Given the description of an element on the screen output the (x, y) to click on. 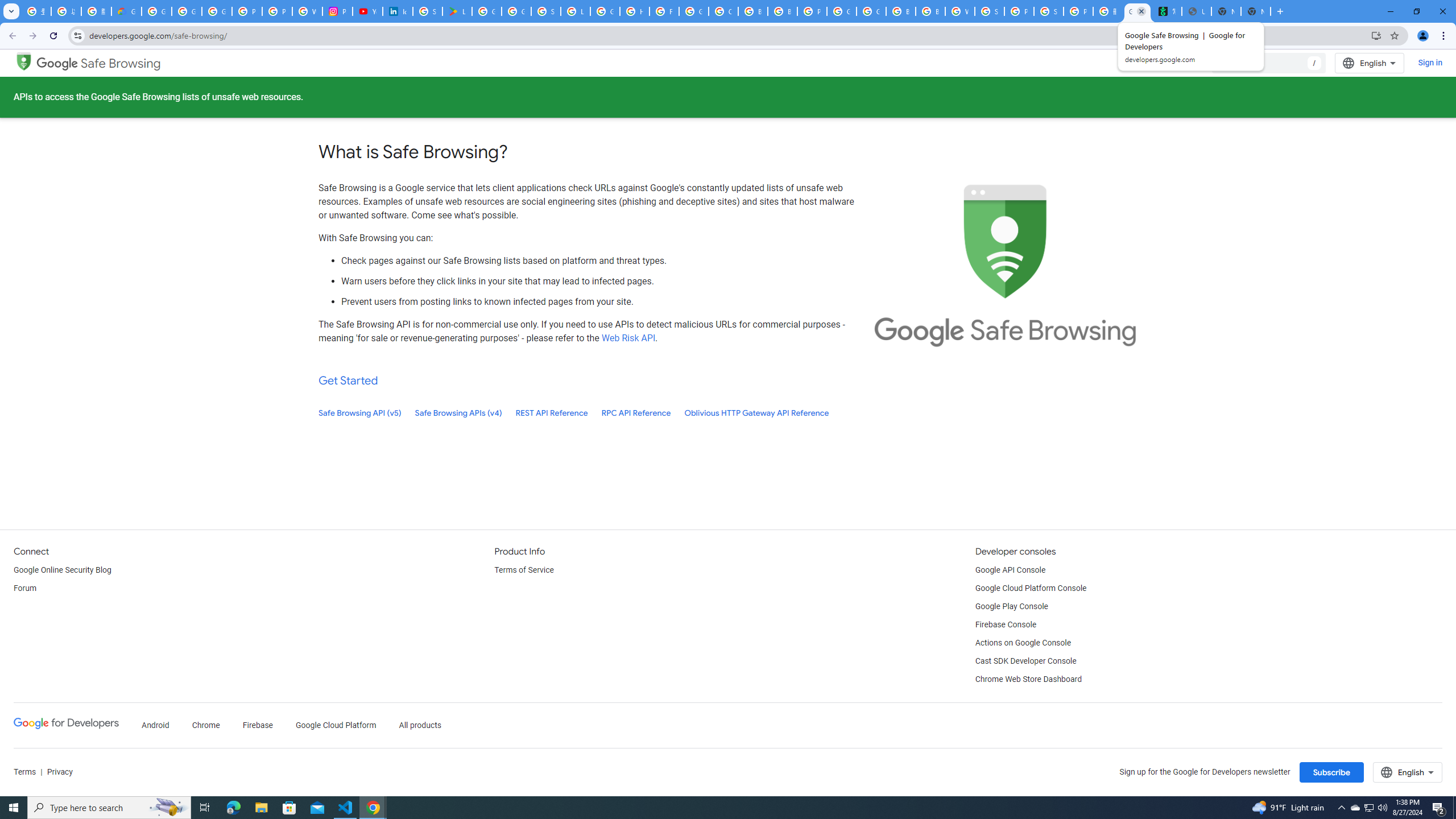
Browse Chrome as a guest - Computer - Google Chrome Help (930, 11)
